Given the description of an element on the screen output the (x, y) to click on. 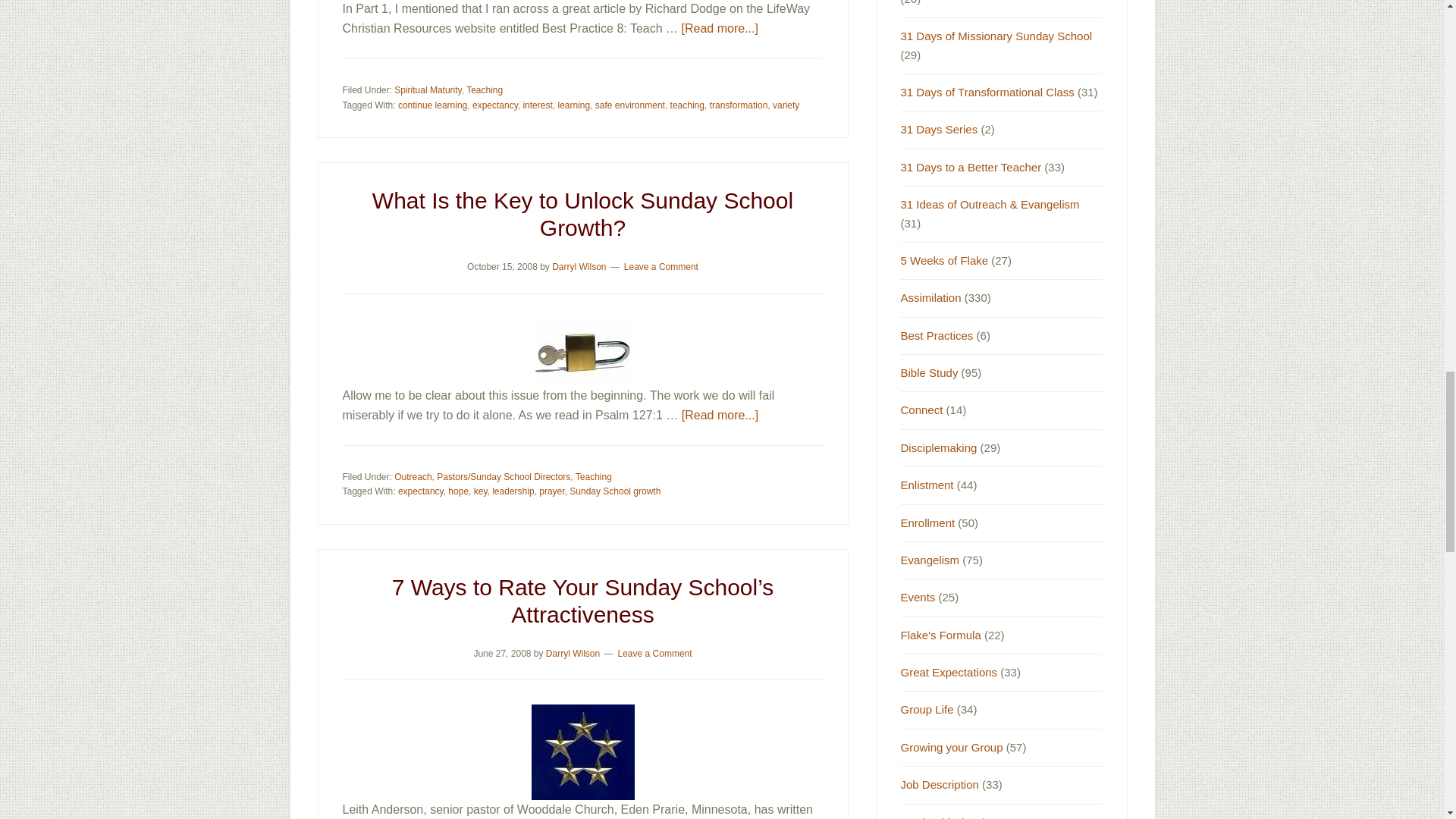
Spiritual Maturity (427, 90)
